Given the description of an element on the screen output the (x, y) to click on. 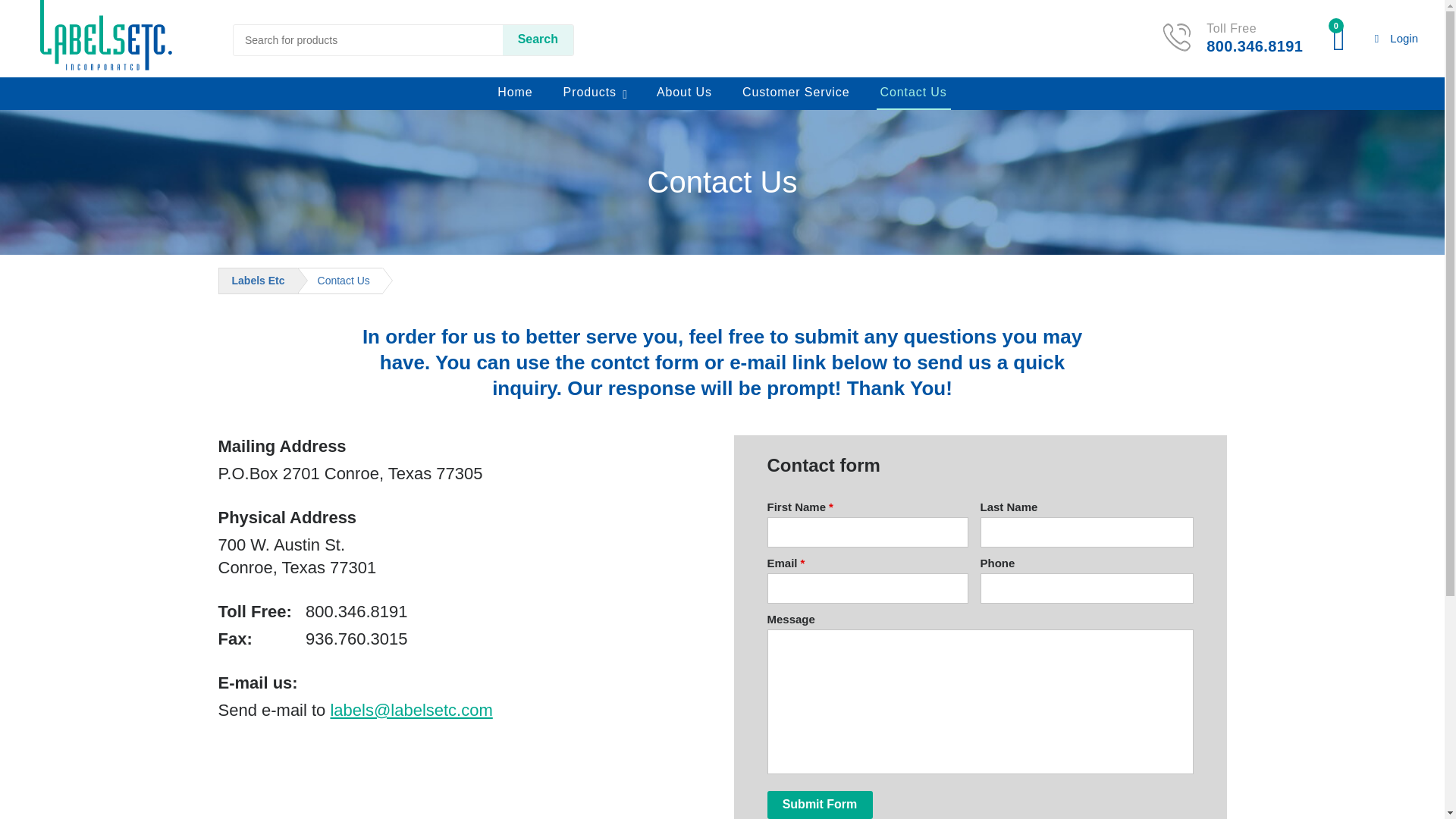
Search (537, 40)
800.346.8191 (1255, 45)
Login (1396, 38)
Login (1396, 38)
Go to Labels Etc. (258, 280)
Submit Form (819, 805)
Labels Etc (105, 35)
Search (537, 40)
